Given the description of an element on the screen output the (x, y) to click on. 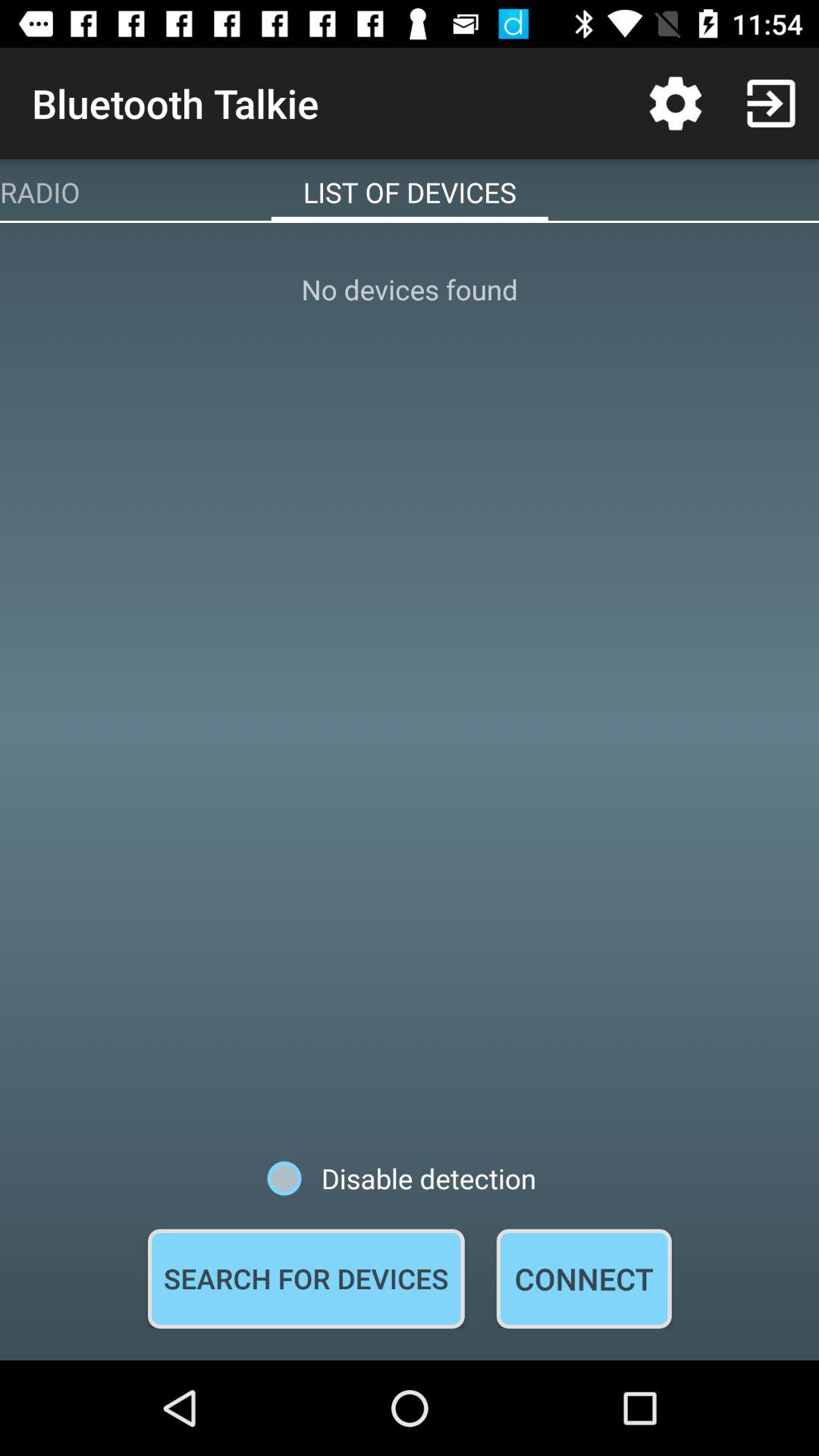
scroll until the radio app (40, 192)
